Given the description of an element on the screen output the (x, y) to click on. 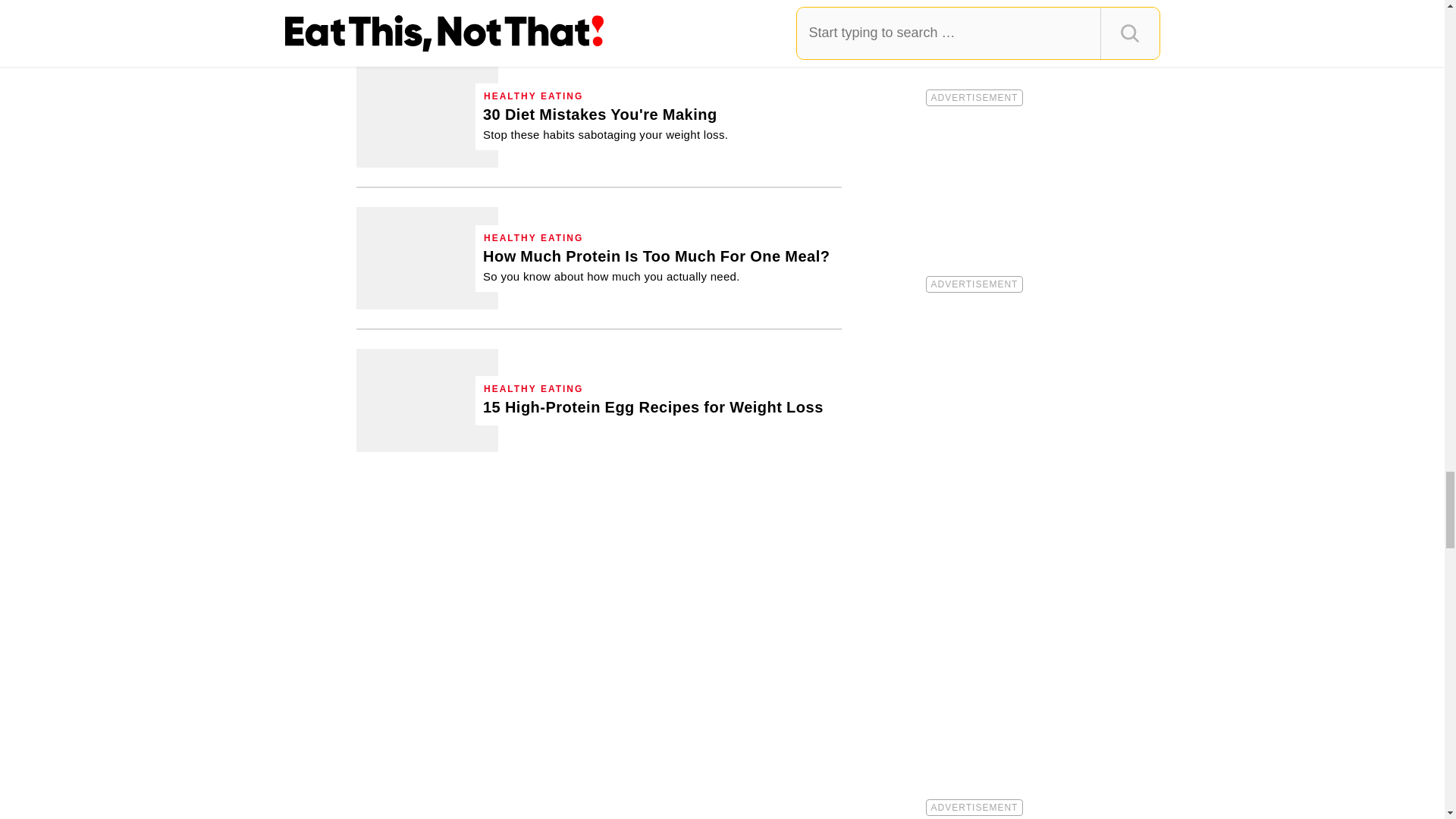
30 Worst Things You Can Do If You're Trying to Lose Weight (605, 123)
Here's How Much Protein You Should Actually Eat in One Meal (426, 258)
15 High-Protein Egg Recipes for Weight Loss (426, 399)
7 Scary Side Effects of Eating Junk Food Every Day (426, 12)
30 Worst Things You Can Do If You're Trying to Lose Weight (426, 116)
15 High-Protein Egg Recipes for Weight Loss (653, 407)
Here's How Much Protein You Should Actually Eat in One Meal (656, 265)
